Given the description of an element on the screen output the (x, y) to click on. 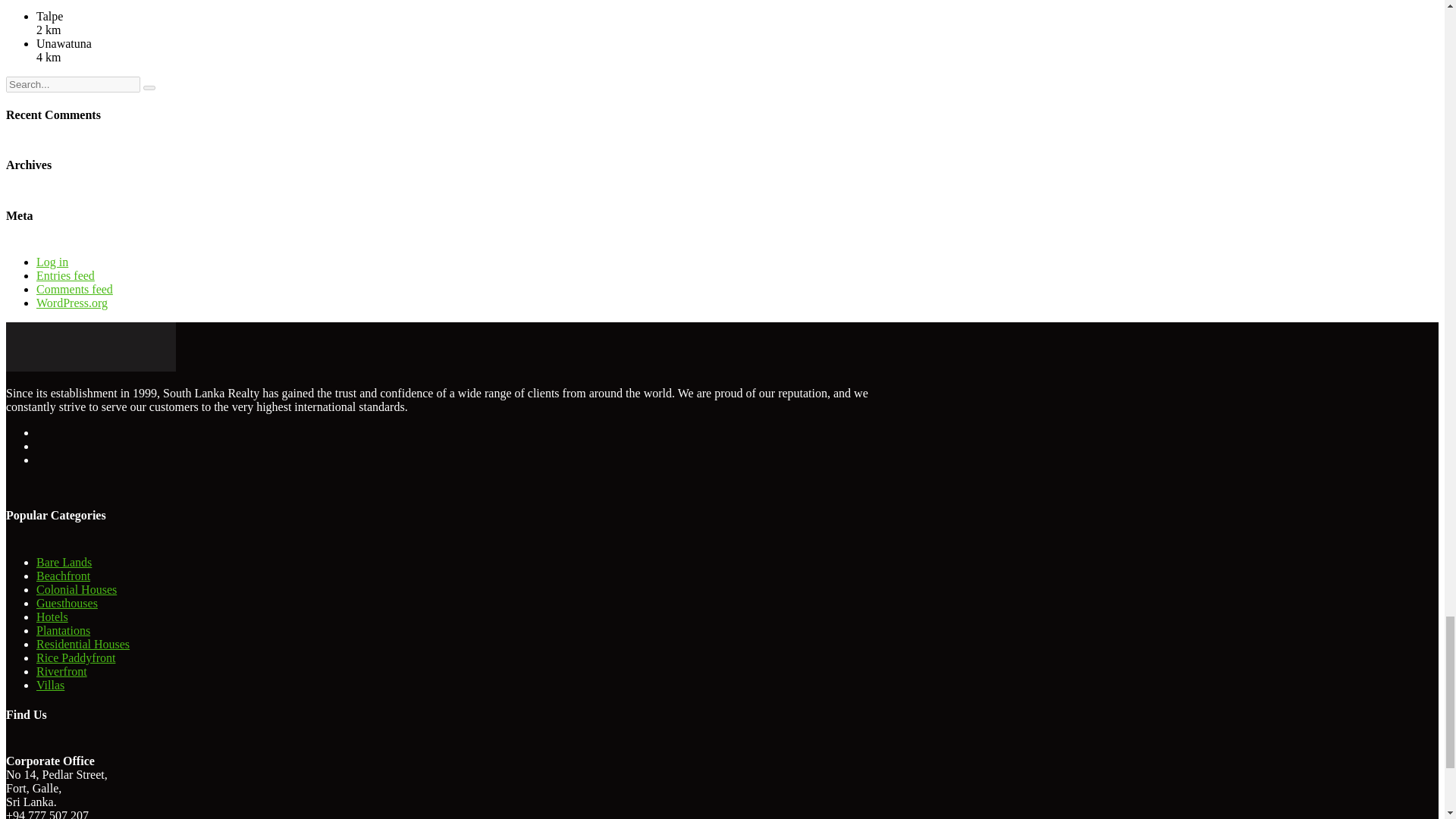
Guesthouses (66, 603)
Residential Houses (82, 644)
Bare Lands (63, 562)
Colonial Houses (76, 589)
Comments feed (74, 288)
Rice Paddyfront (75, 657)
Hotels (52, 616)
Villas (50, 684)
Log in (52, 261)
Entries feed (65, 275)
Riverfront (61, 671)
Plantations (63, 630)
Beachfront (63, 575)
WordPress.org (71, 302)
